Given the description of an element on the screen output the (x, y) to click on. 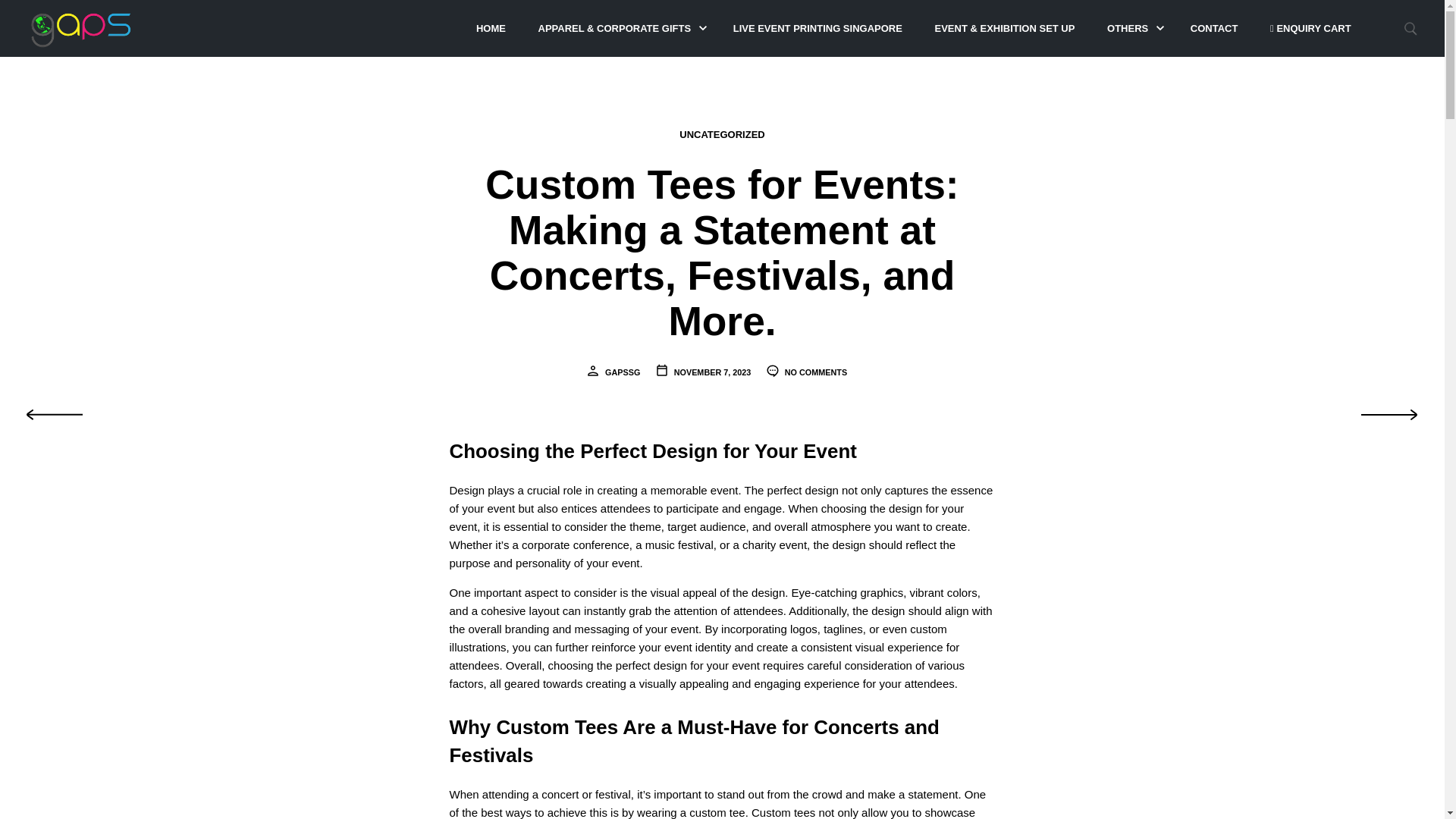
NO COMMENTS (806, 371)
LIVE EVENT PRINTING SINGAPORE (817, 29)
UNCATEGORIZED (721, 134)
CONTACT (1213, 29)
OTHERS (1127, 29)
